Given the description of an element on the screen output the (x, y) to click on. 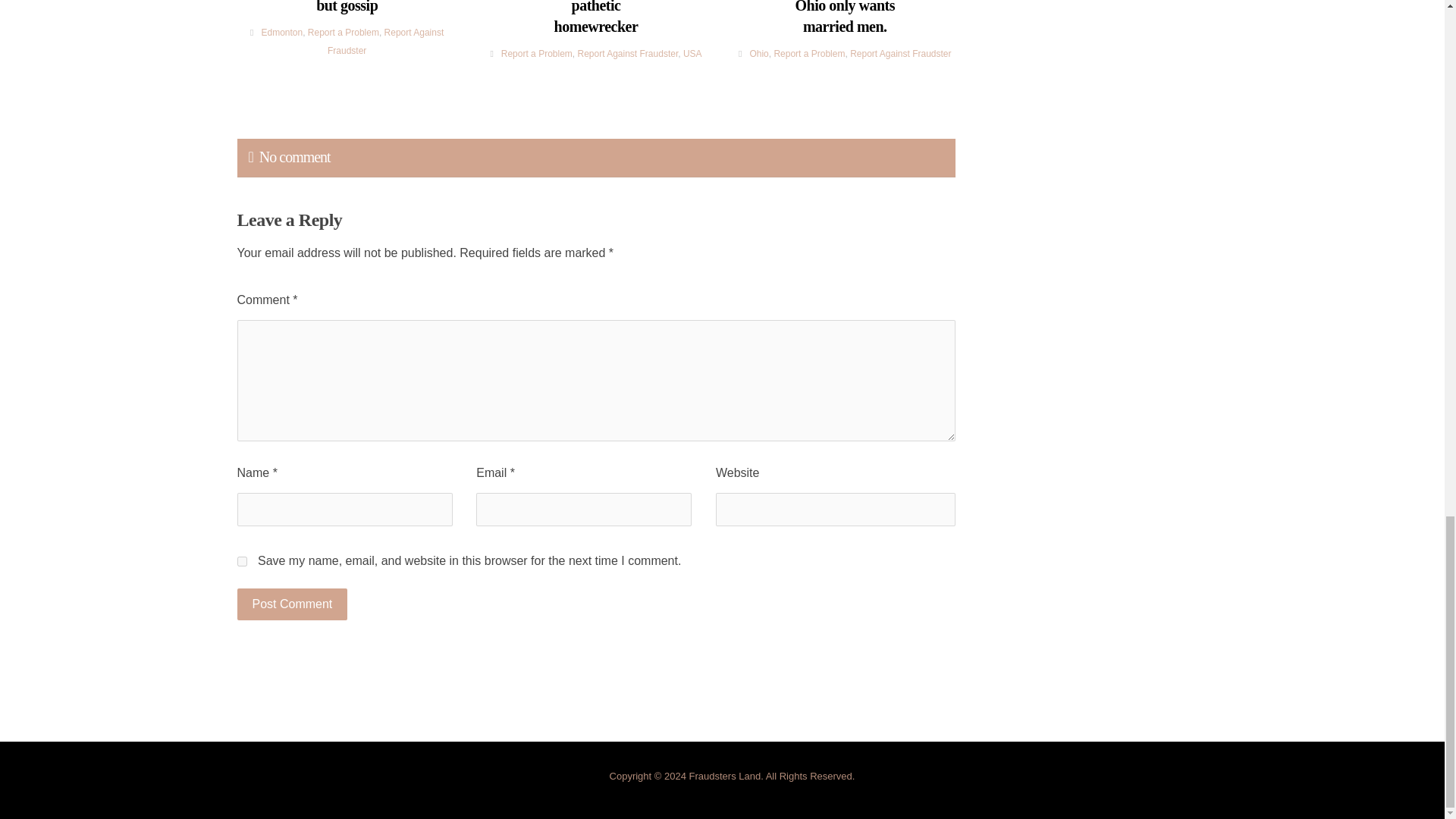
Michael Hart pathetic homewrecker (596, 18)
Report a Problem (536, 53)
Report Against Fraudster (385, 41)
yes (240, 561)
Report a Problem (342, 32)
Laura does nothing but gossip (346, 7)
Report Against Fraudster (627, 53)
Edmonton (281, 32)
Post Comment (291, 603)
Bernadette Akron Ohio only wants married men. (845, 18)
